Given the description of an element on the screen output the (x, y) to click on. 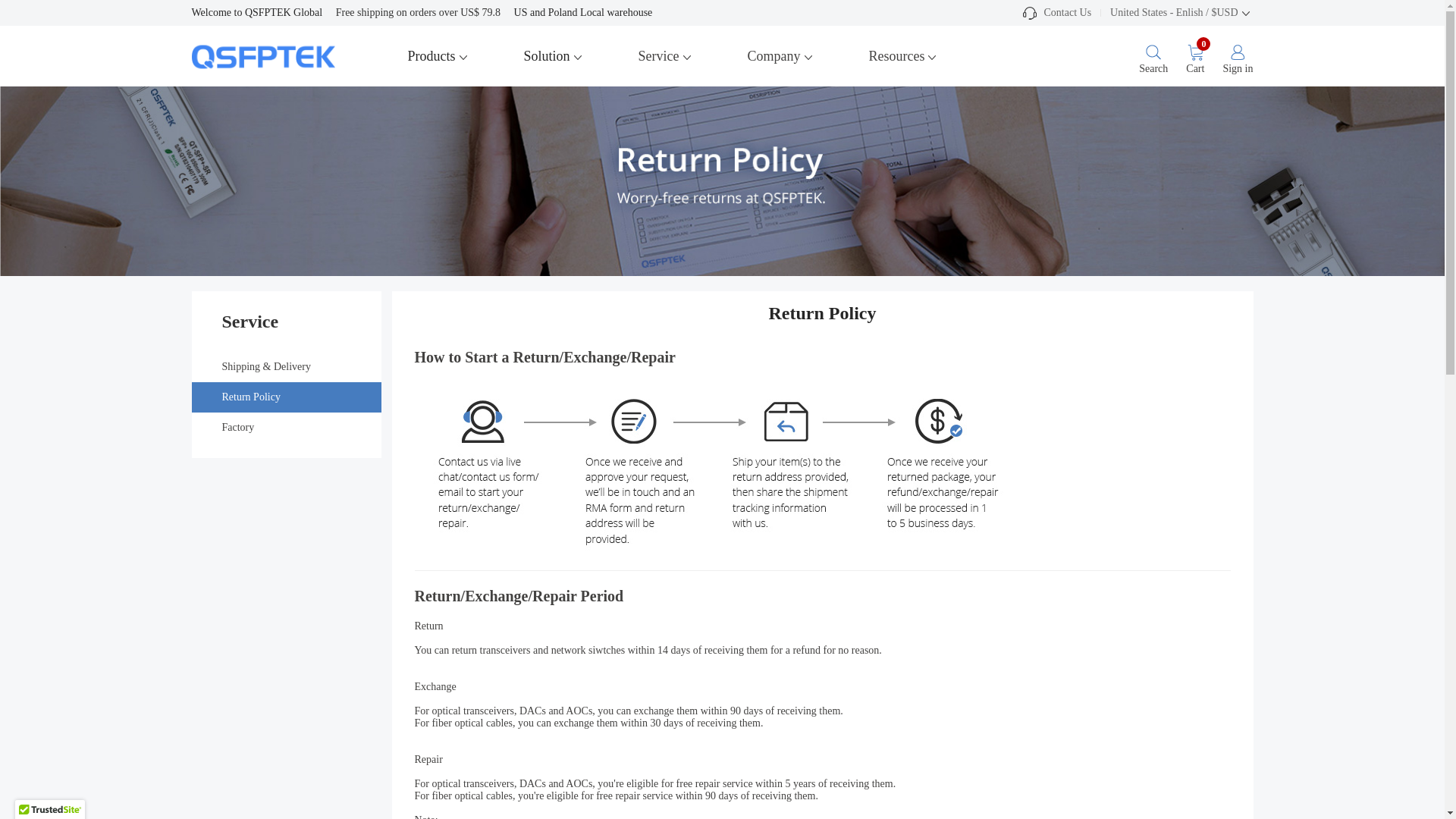
TrustedSite Certified (49, 809)
Contact Us (1056, 12)
Products (438, 55)
LiveChat chat widget (1397, 764)
